Given the description of an element on the screen output the (x, y) to click on. 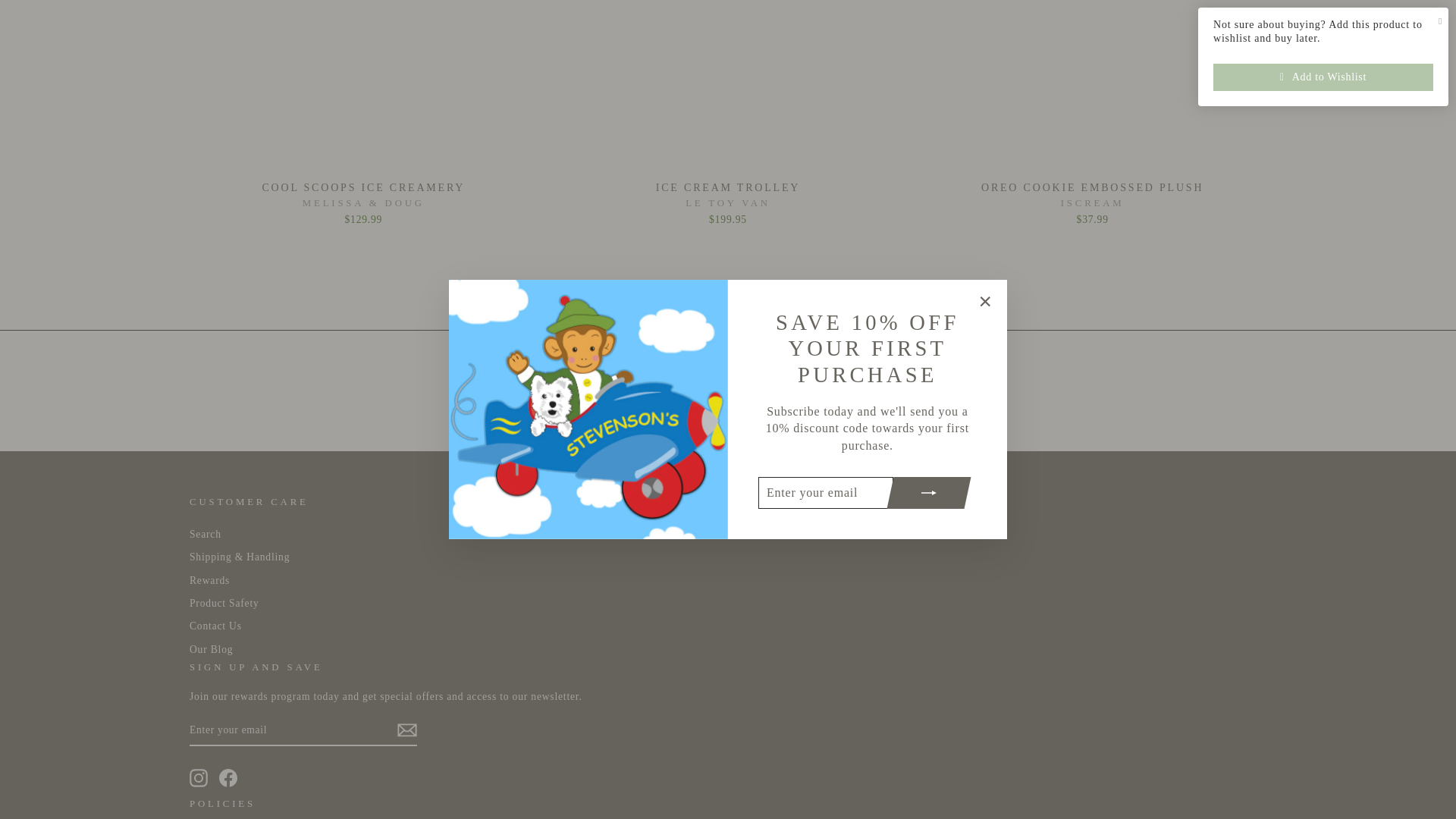
icon-email (406, 730)
instagram (198, 778)
